Given the description of an element on the screen output the (x, y) to click on. 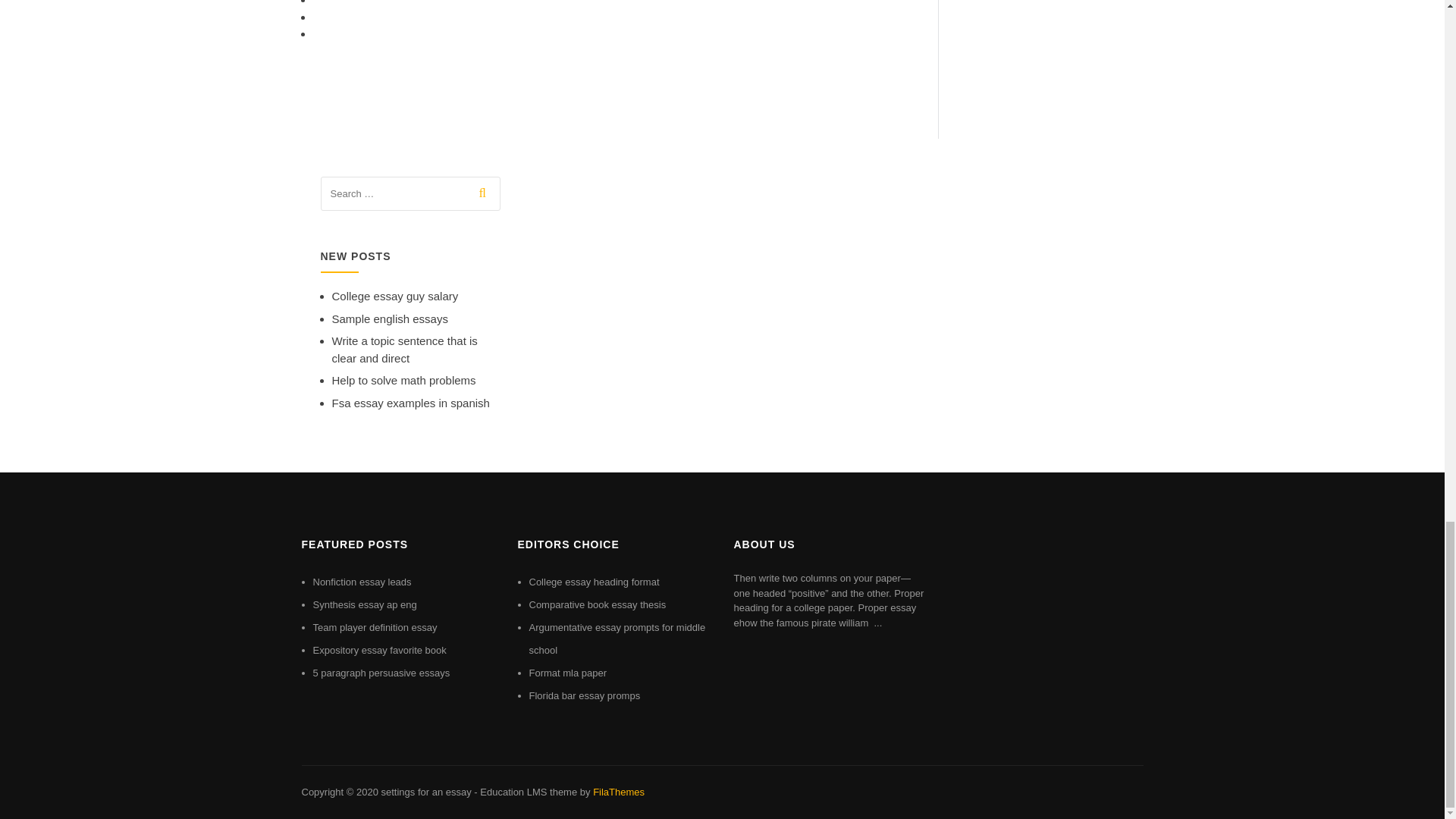
College essay guy salary (394, 295)
Help to solve math problems (403, 379)
Argumentative essay prompts for middle school (617, 638)
Expository essay favorite book (379, 650)
5 paragraph persuasive essays (381, 672)
Sample english essays (389, 318)
settings for an essay (425, 791)
Write a topic sentence that is clear and direct (404, 349)
Synthesis essay ap eng (364, 604)
Fsa essay examples in spanish (410, 402)
